Given the description of an element on the screen output the (x, y) to click on. 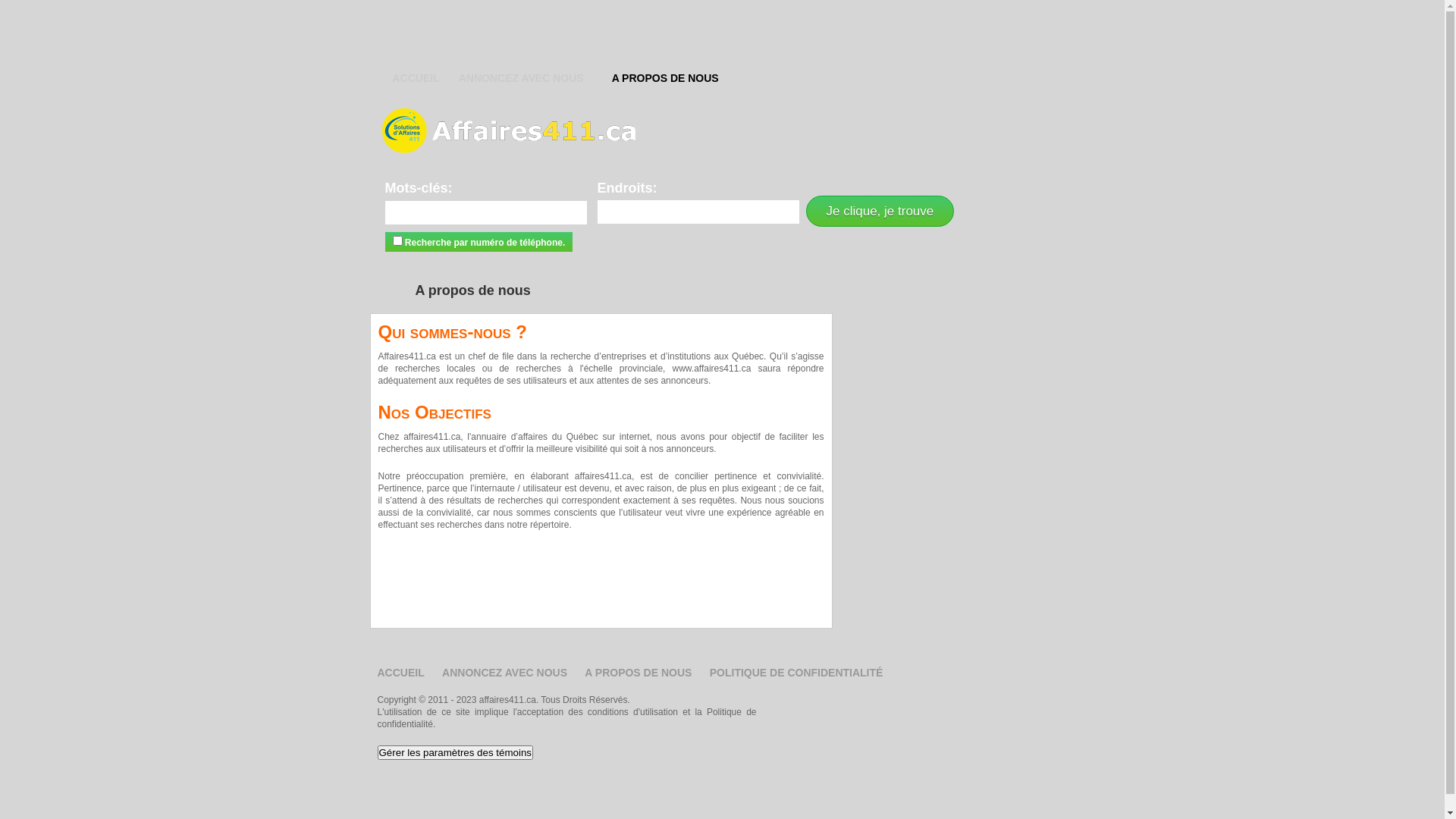
ANNONCEZ AVEC NOUS Element type: text (504, 672)
ACCUEIL Element type: text (415, 79)
A PROPOS DE NOUS Element type: text (665, 79)
A PROPOS DE NOUS Element type: text (637, 672)
Je clique, je trouve Element type: text (879, 210)
ACCUEIL Element type: text (400, 672)
ANNONCEZ AVEC NOUS Element type: text (520, 79)
